Given the description of an element on the screen output the (x, y) to click on. 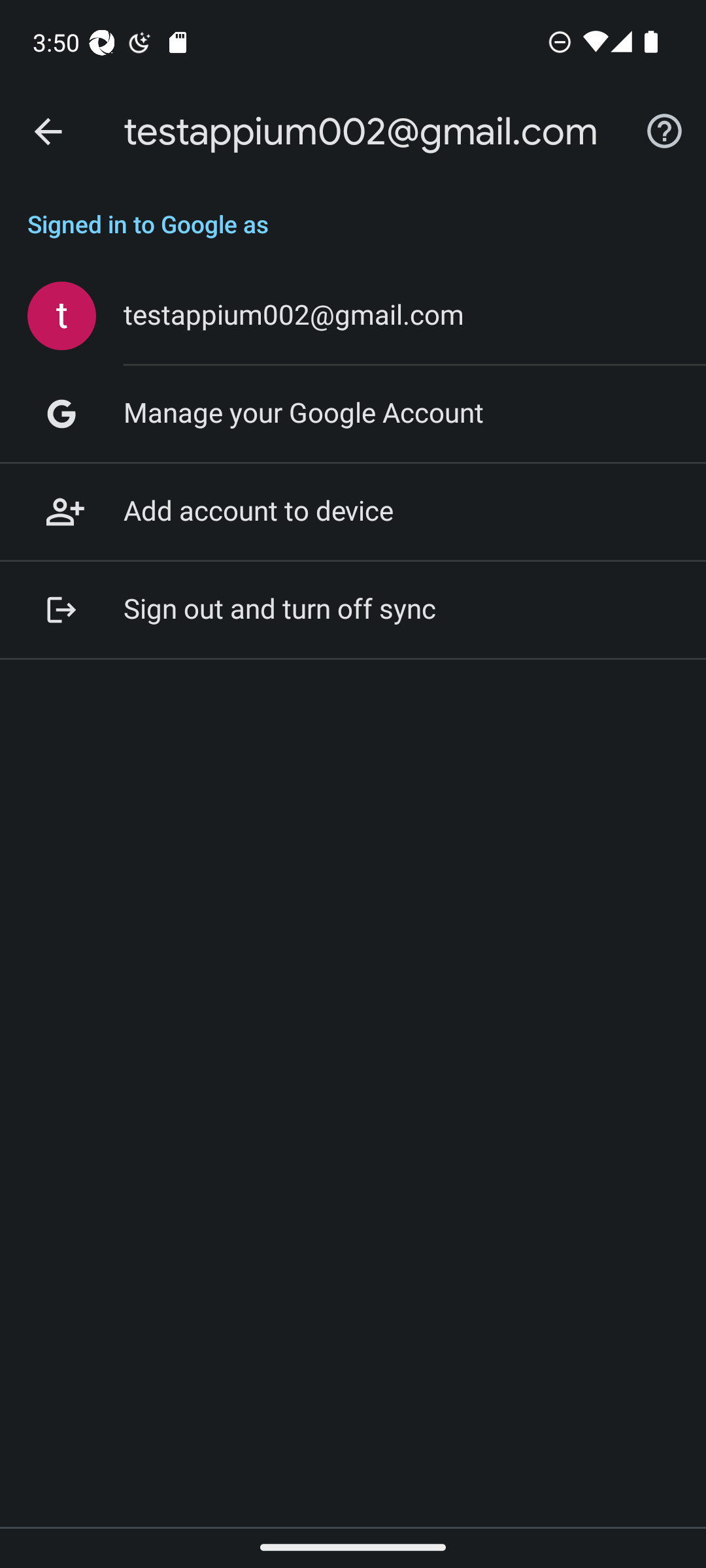
Navigate up (48, 131)
Help & feedback (664, 131)
testappium002@gmail.com (353, 315)
Manage your Google Account (353, 413)
Add account to device (353, 511)
Sign out and turn off sync (353, 609)
